Given the description of an element on the screen output the (x, y) to click on. 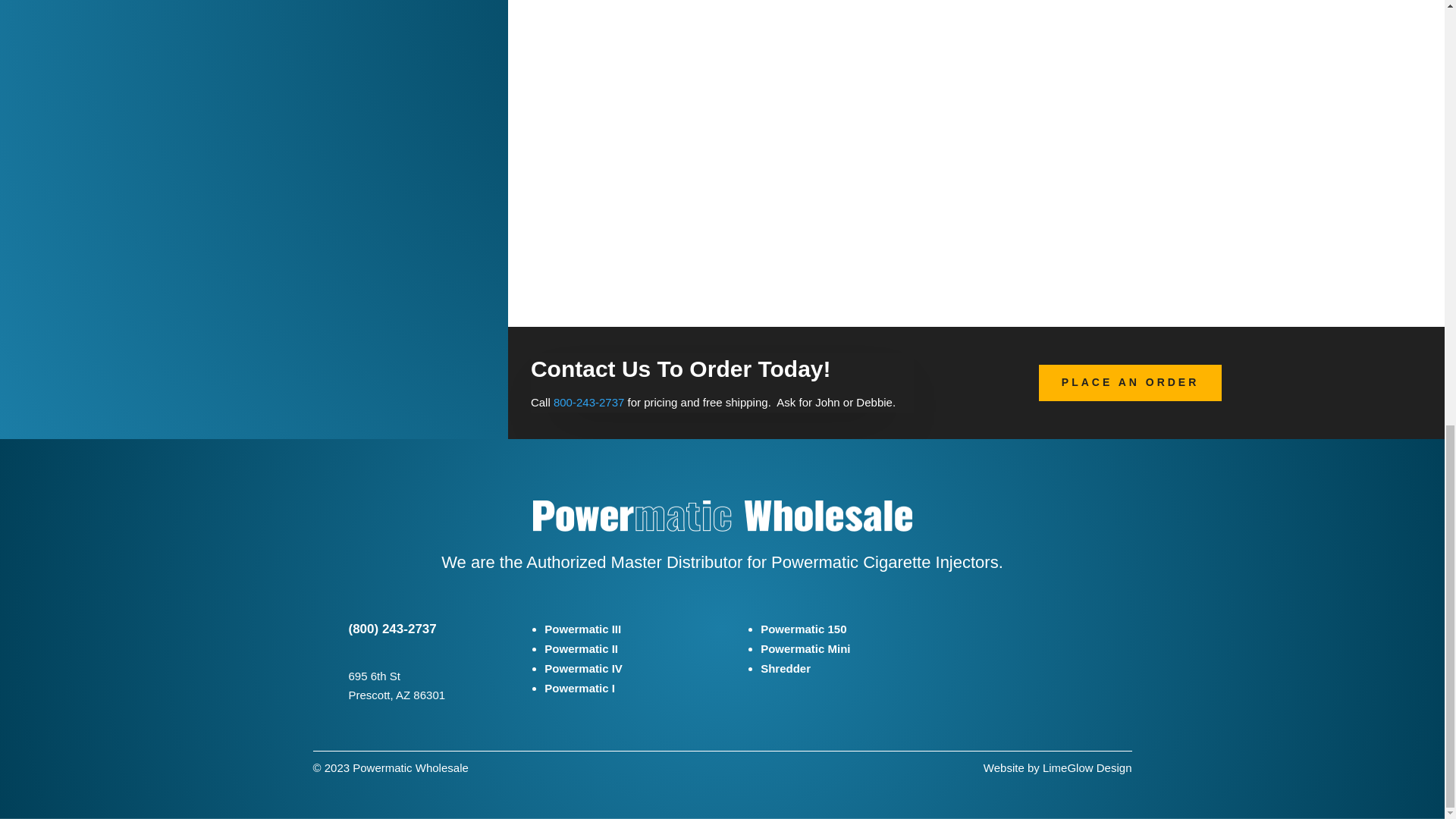
PLACE AN ORDER (1131, 382)
Powermatic Mini (805, 648)
Powermatic 150 (802, 628)
Powermatic I (579, 687)
Powermatic IV (583, 667)
Powermatic III (582, 628)
LimeGlow Design (1087, 767)
Shredder (785, 667)
Powermatic II (580, 648)
800-243-2737 (588, 401)
